Given the description of an element on the screen output the (x, y) to click on. 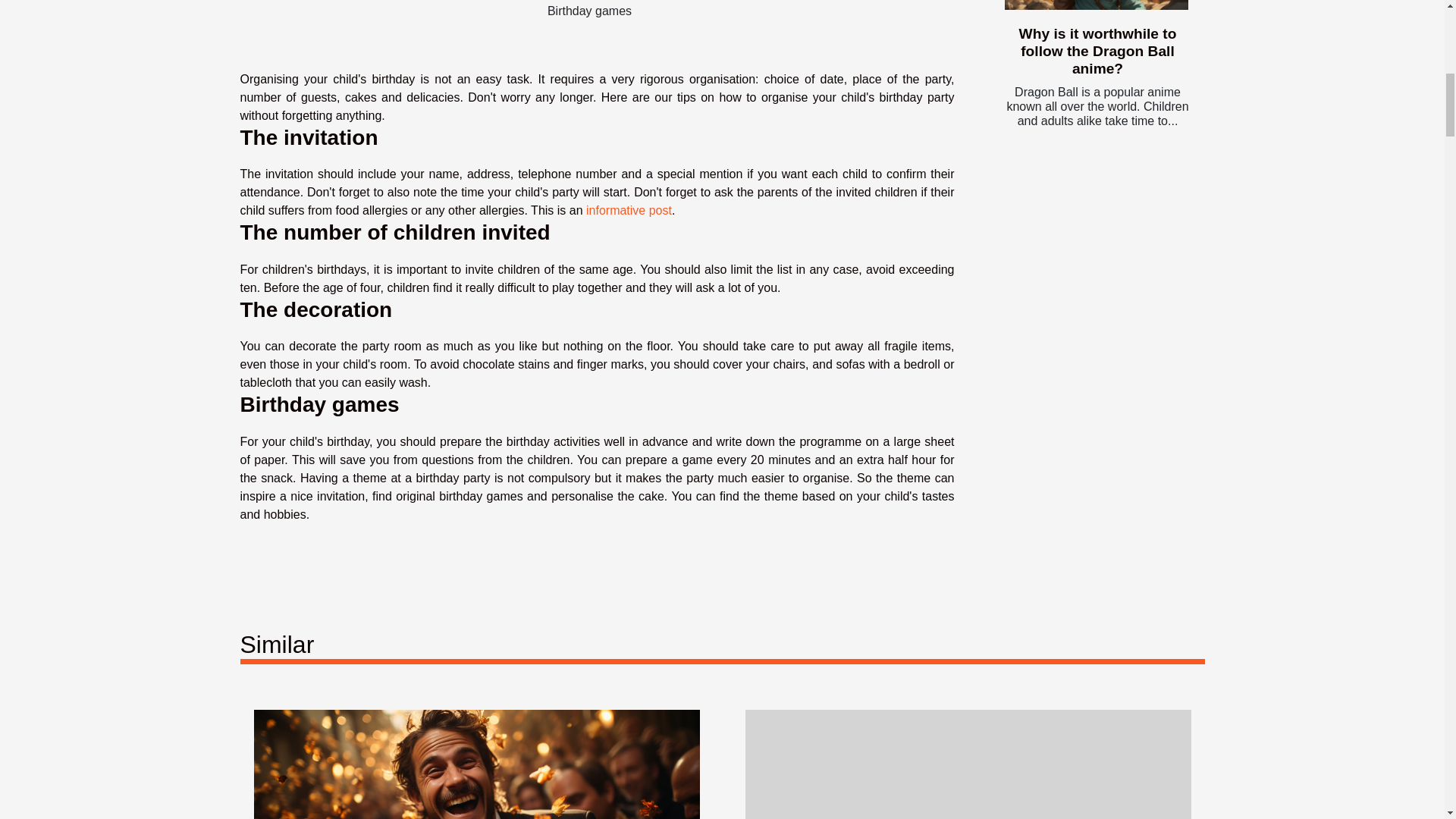
informative post (628, 210)
Why is it worthwhile to follow the Dragon Ball anime? (1097, 50)
Why is it worthwhile to follow the Dragon Ball anime? (1096, 4)
Why is it worthwhile to follow the Dragon Ball anime? (1097, 50)
Birthday games (589, 10)
